Given the description of an element on the screen output the (x, y) to click on. 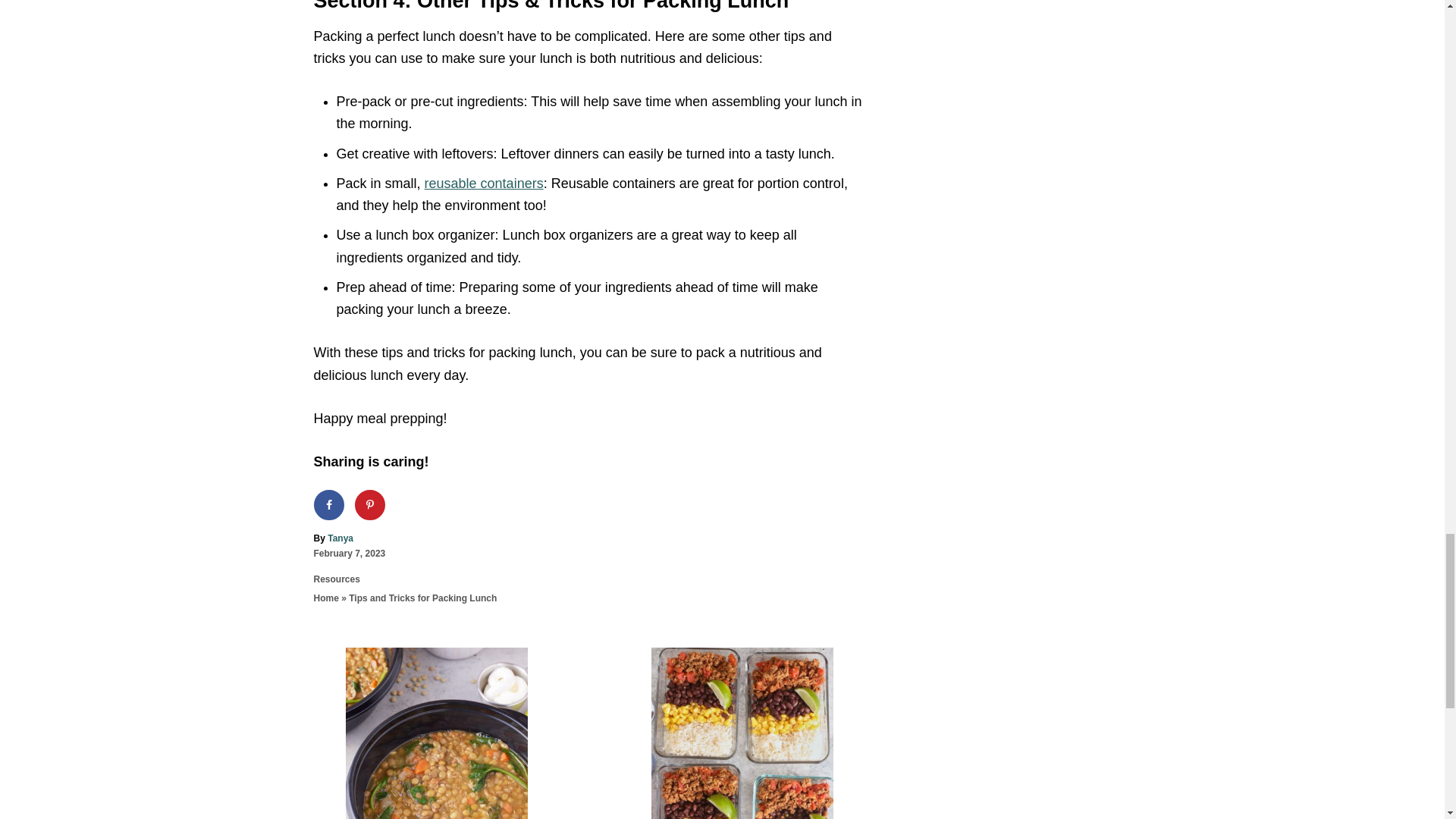
reusable containers (484, 183)
Tanya (340, 538)
Home (326, 597)
Resources (336, 579)
Save to Pinterest (370, 504)
Share on Facebook (328, 504)
